Given the description of an element on the screen output the (x, y) to click on. 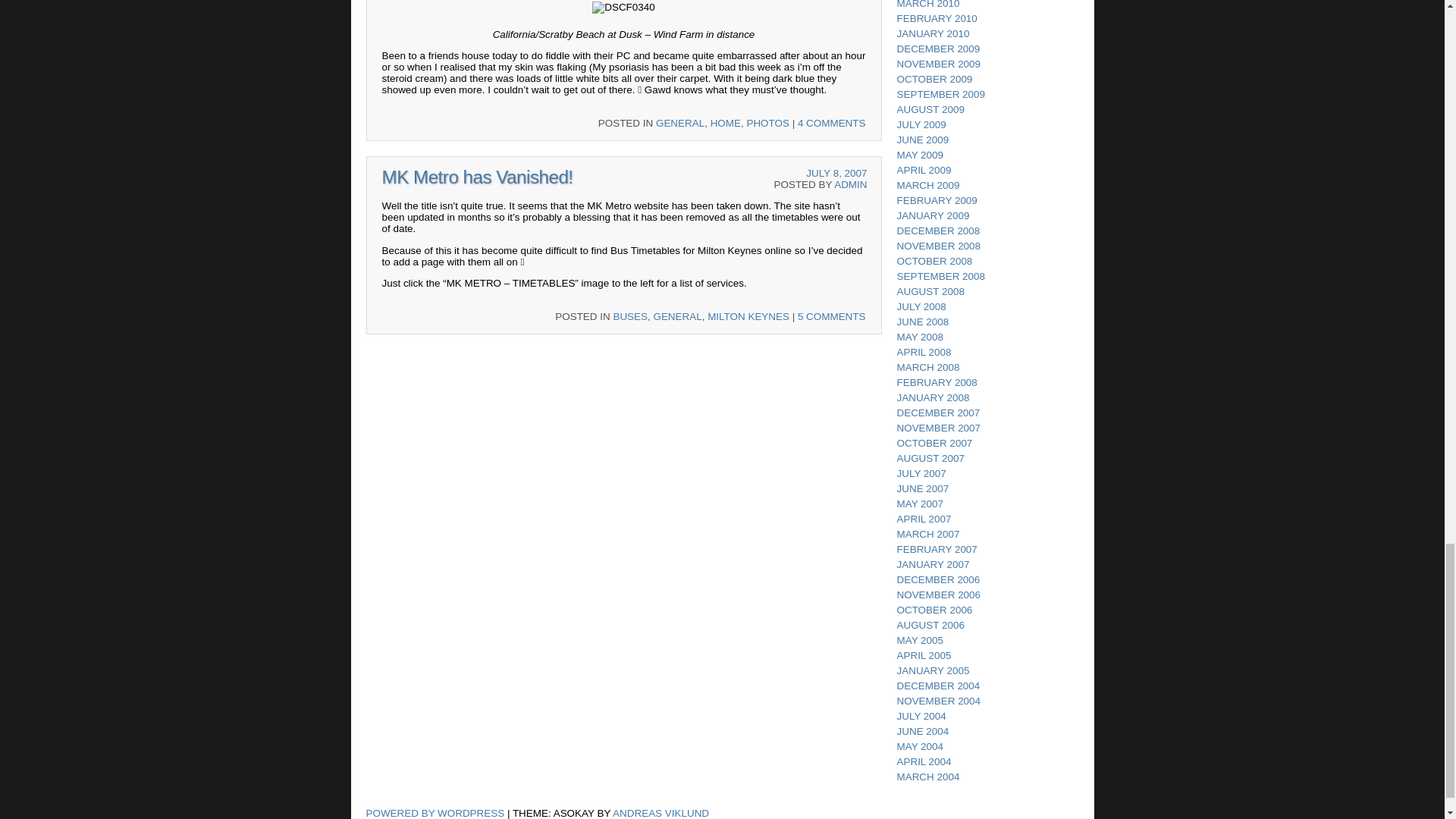
PHOTOS (767, 122)
4 COMMENTS (831, 122)
Permalink to MK Metro has Vanished! (477, 177)
MILTON KEYNES (748, 316)
MK Metro has Vanished! (477, 177)
GENERAL (680, 122)
ADMIN (850, 184)
JULY 8, 2007 (836, 173)
HOME (725, 122)
GENERAL (676, 316)
